Given the description of an element on the screen output the (x, y) to click on. 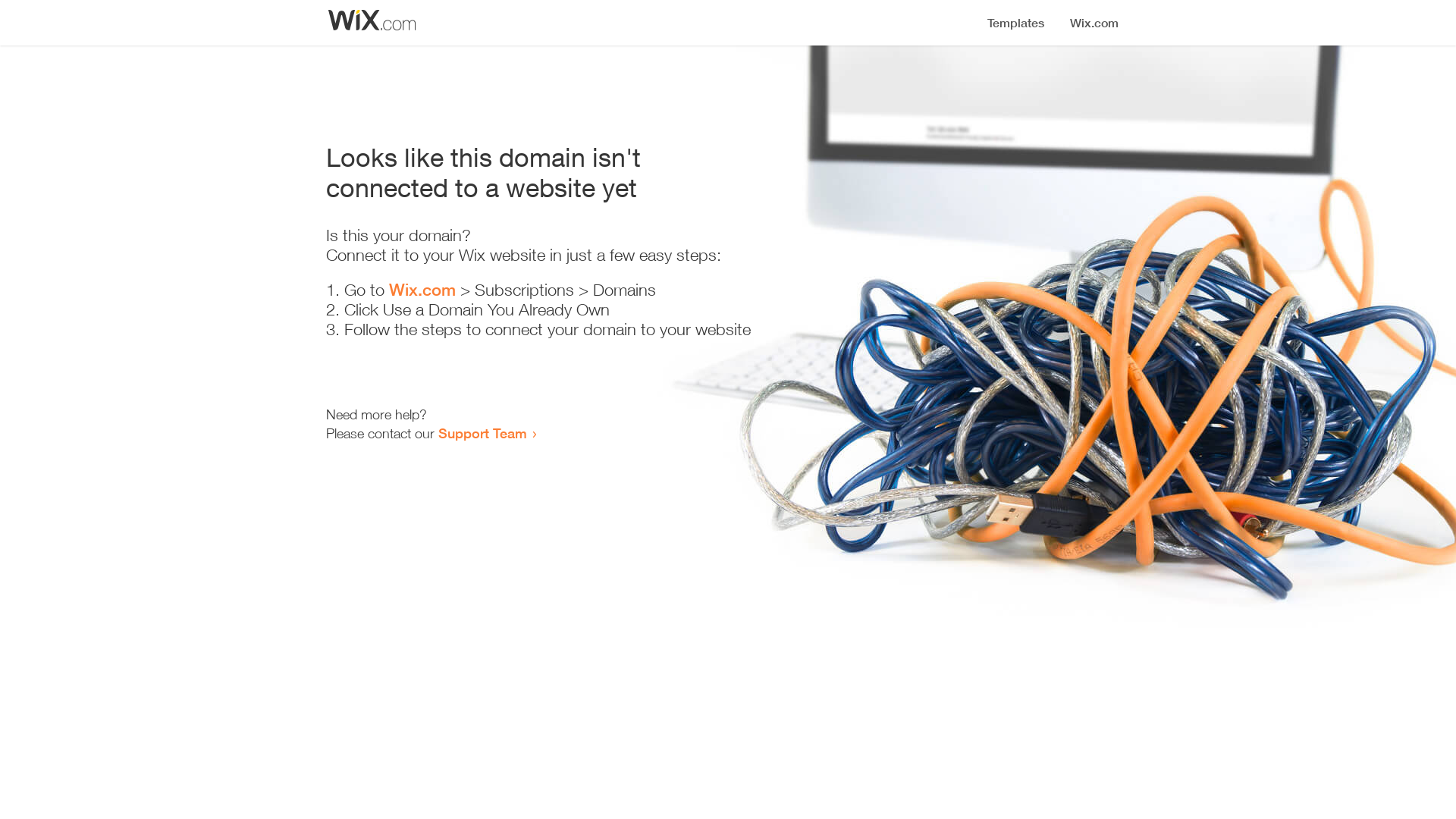
Wix.com Element type: text (422, 289)
Support Team Element type: text (482, 432)
